Given the description of an element on the screen output the (x, y) to click on. 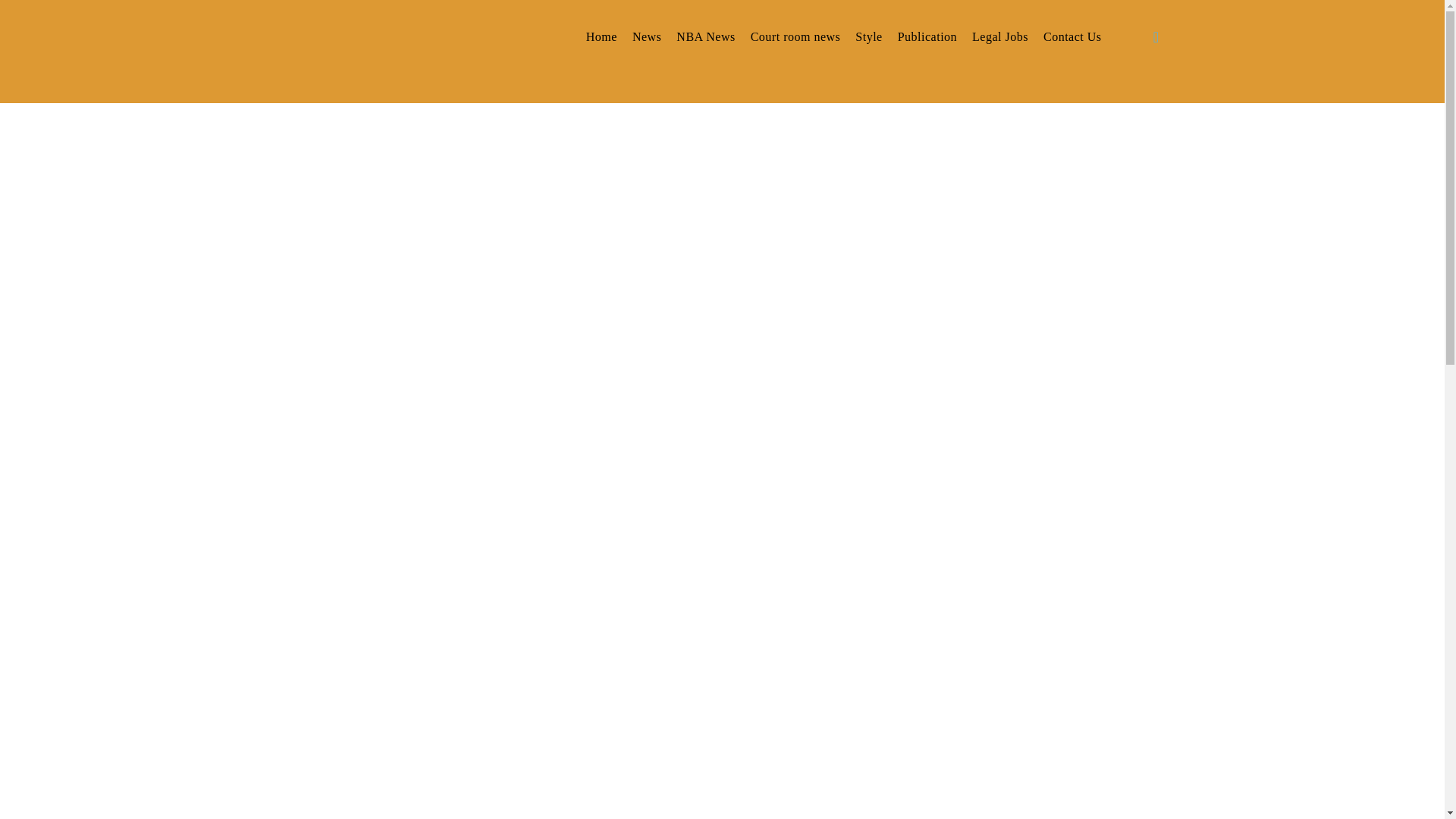
Court room news (796, 36)
Contact Us (1072, 36)
Publication (927, 36)
NBA News (706, 36)
Legal Jobs (999, 36)
